Given the description of an element on the screen output the (x, y) to click on. 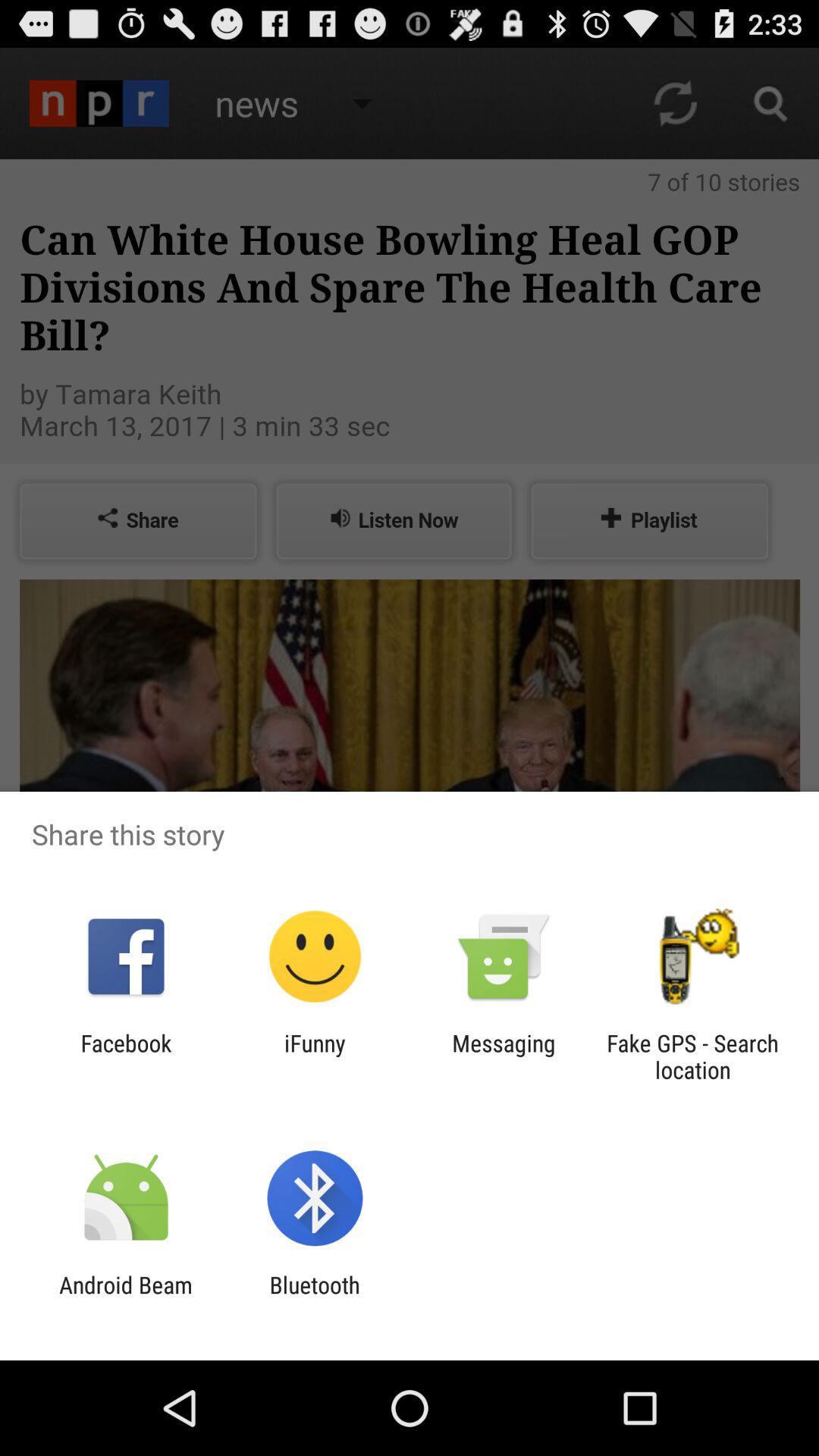
press ifunny (314, 1056)
